Given the description of an element on the screen output the (x, y) to click on. 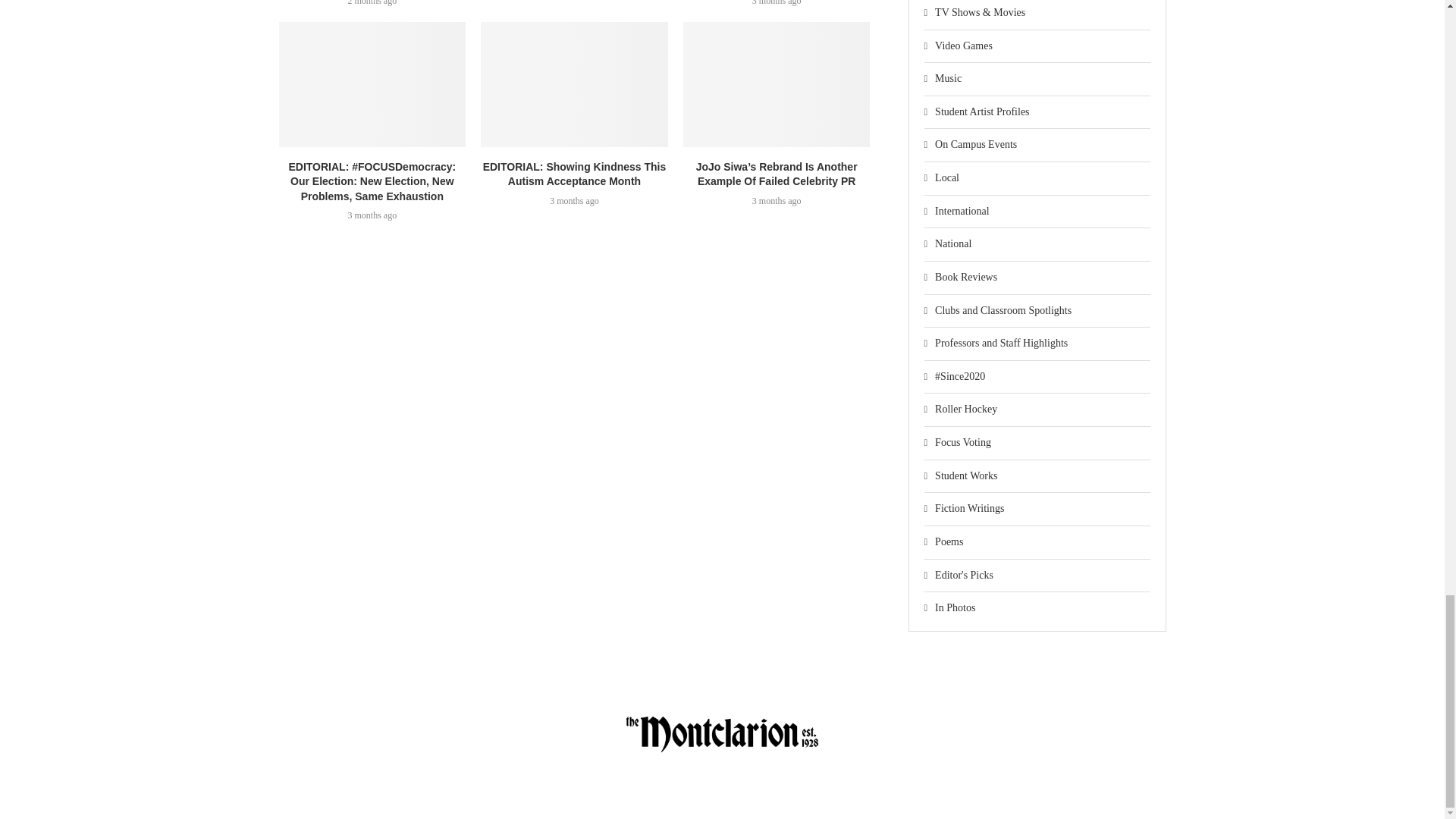
EDITORIAL: Showing Kindness This Autism Acceptance Month (574, 84)
